Given the description of an element on the screen output the (x, y) to click on. 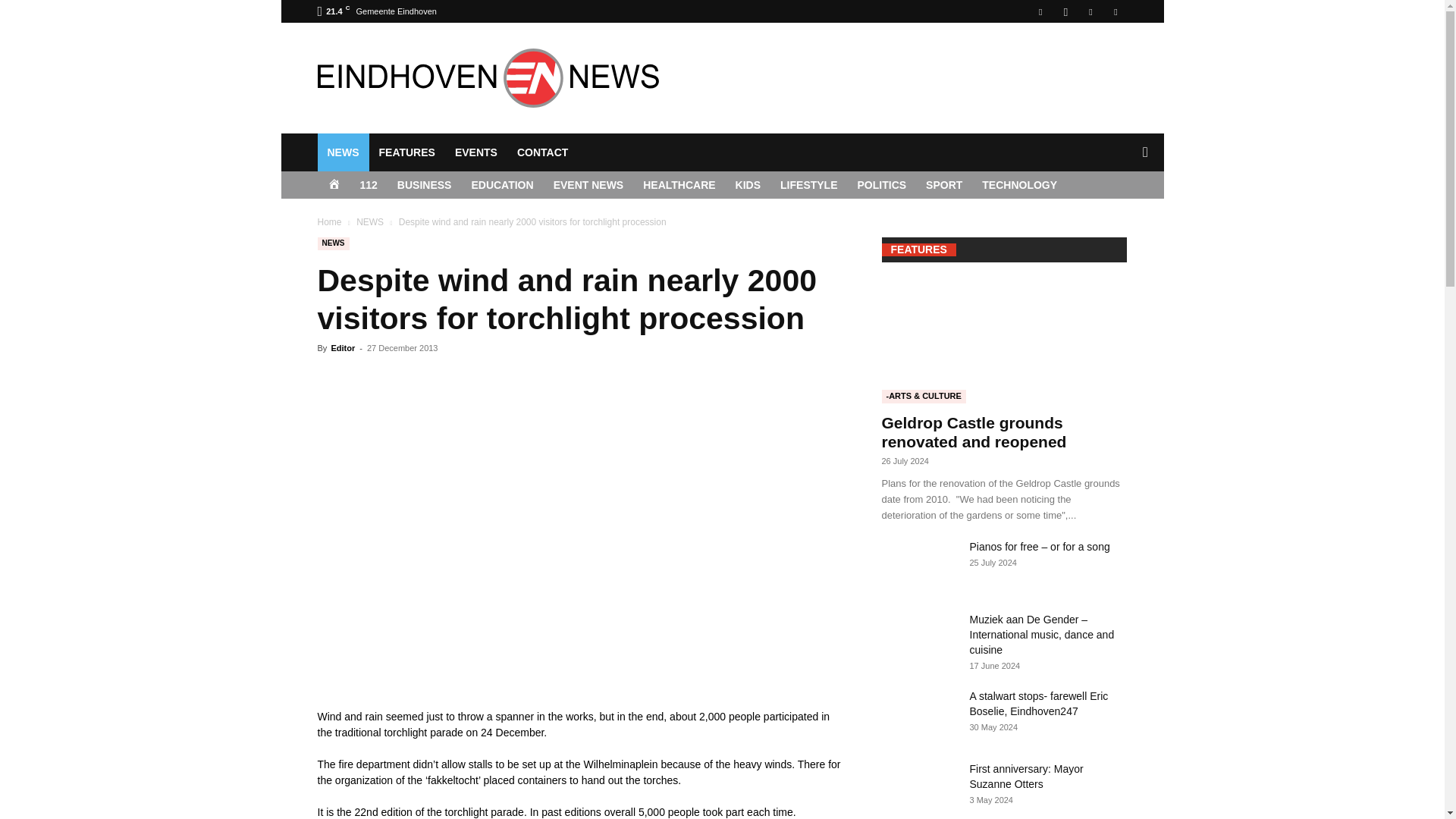
112 (368, 185)
FEATURES (406, 152)
CONTACT (542, 152)
BUSINESS (424, 185)
Facebook (1040, 11)
EVENT NEWS (588, 185)
NEWS (342, 152)
EDUCATION (502, 185)
Instagram (1065, 11)
HEALTHCARE (679, 185)
Linkedin (1090, 11)
Twitter (1114, 11)
View all posts in NEWS (370, 222)
EVENTS (475, 152)
